Given the description of an element on the screen output the (x, y) to click on. 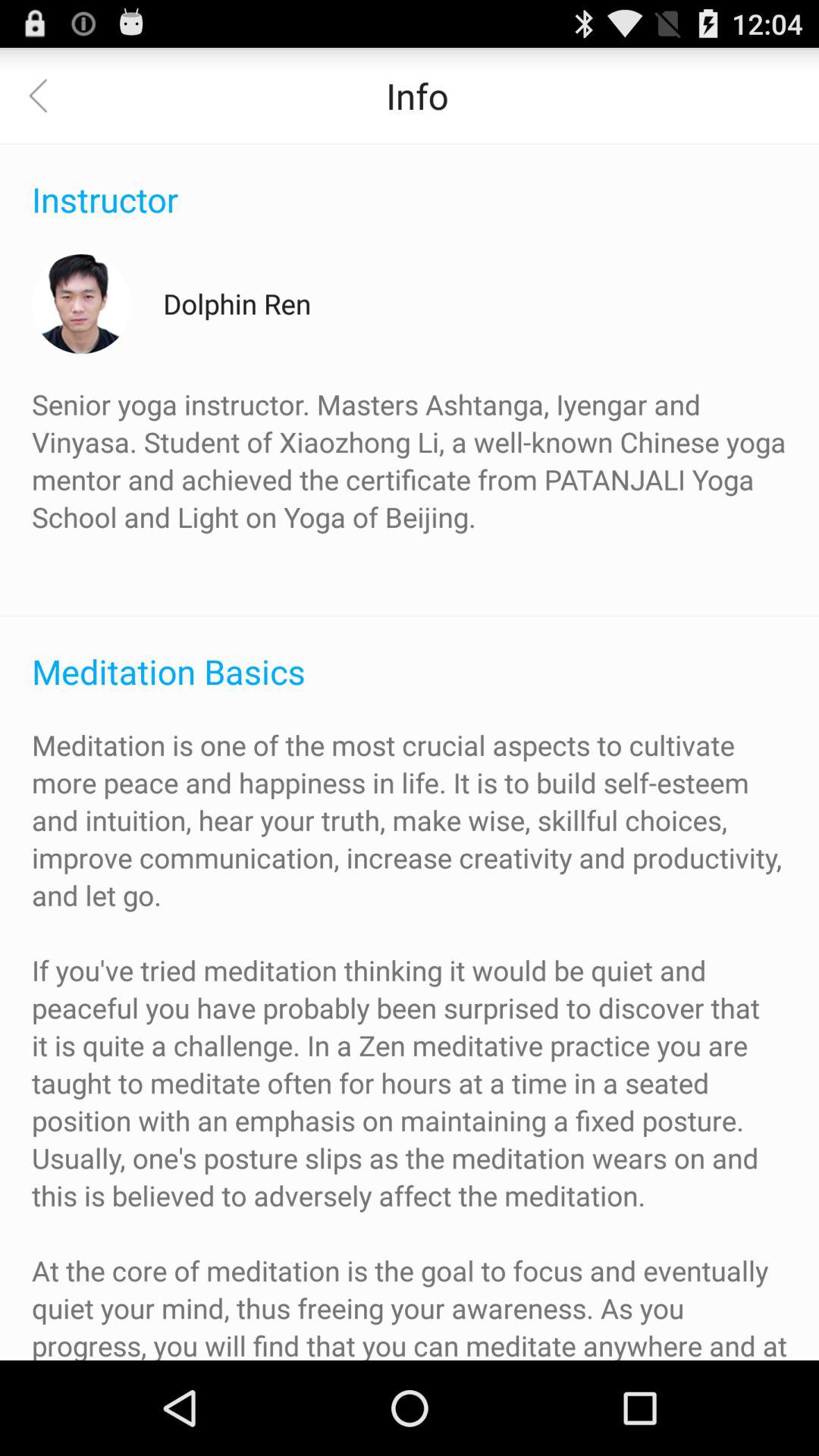
go back (47, 95)
